Given the description of an element on the screen output the (x, y) to click on. 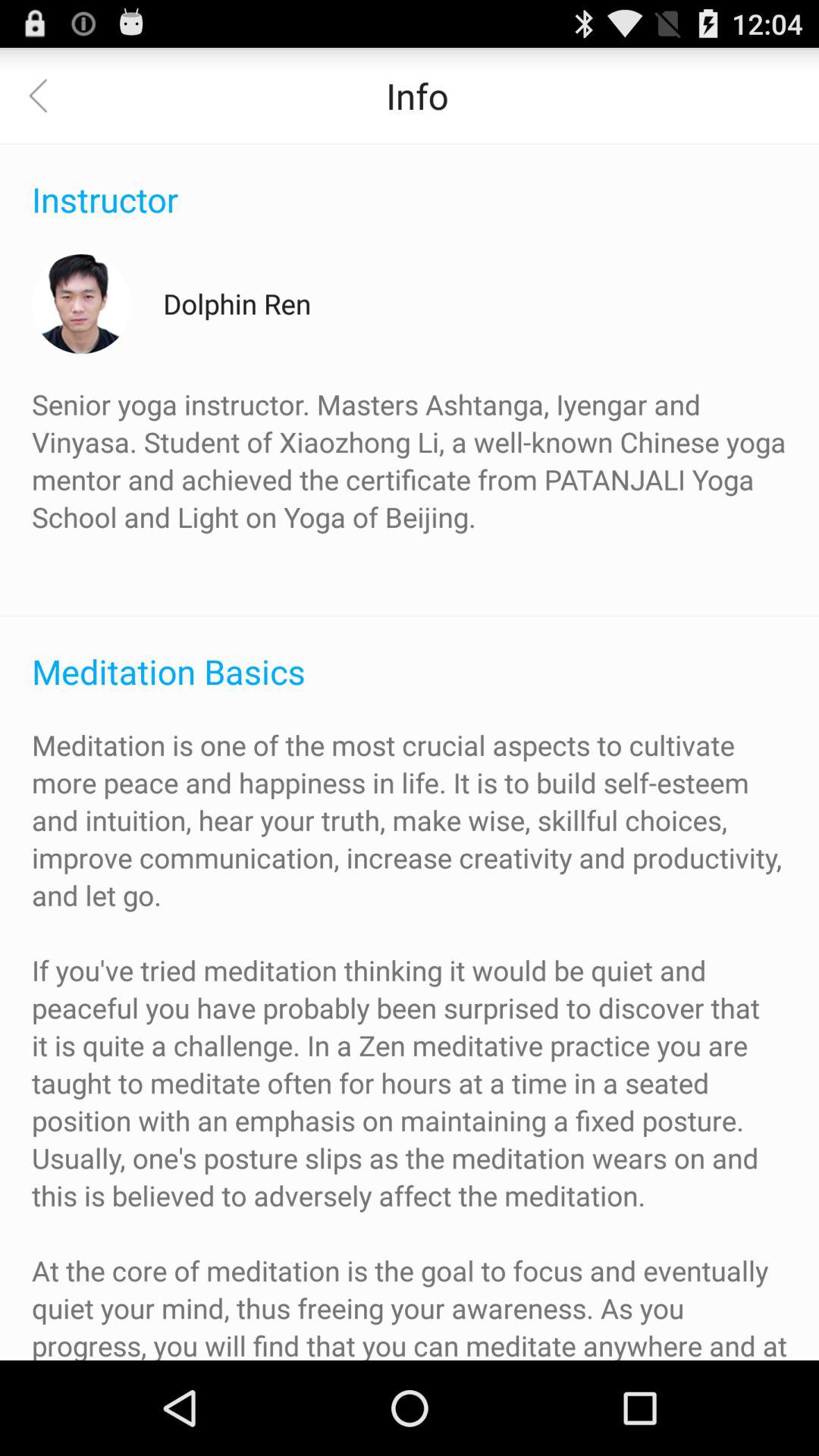
go back (47, 95)
